Given the description of an element on the screen output the (x, y) to click on. 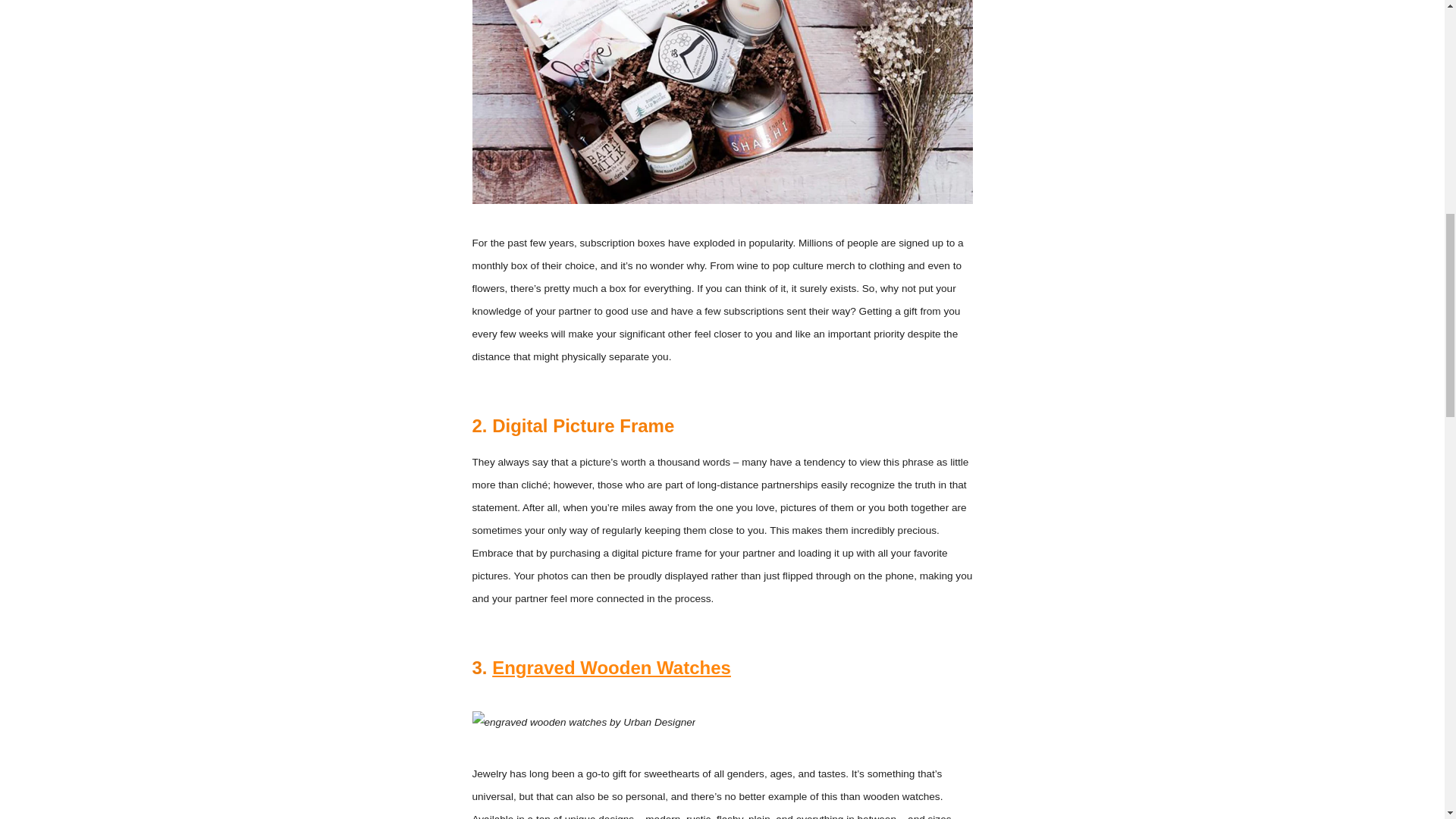
Engraved wooden watches (611, 667)
